Given the description of an element on the screen output the (x, y) to click on. 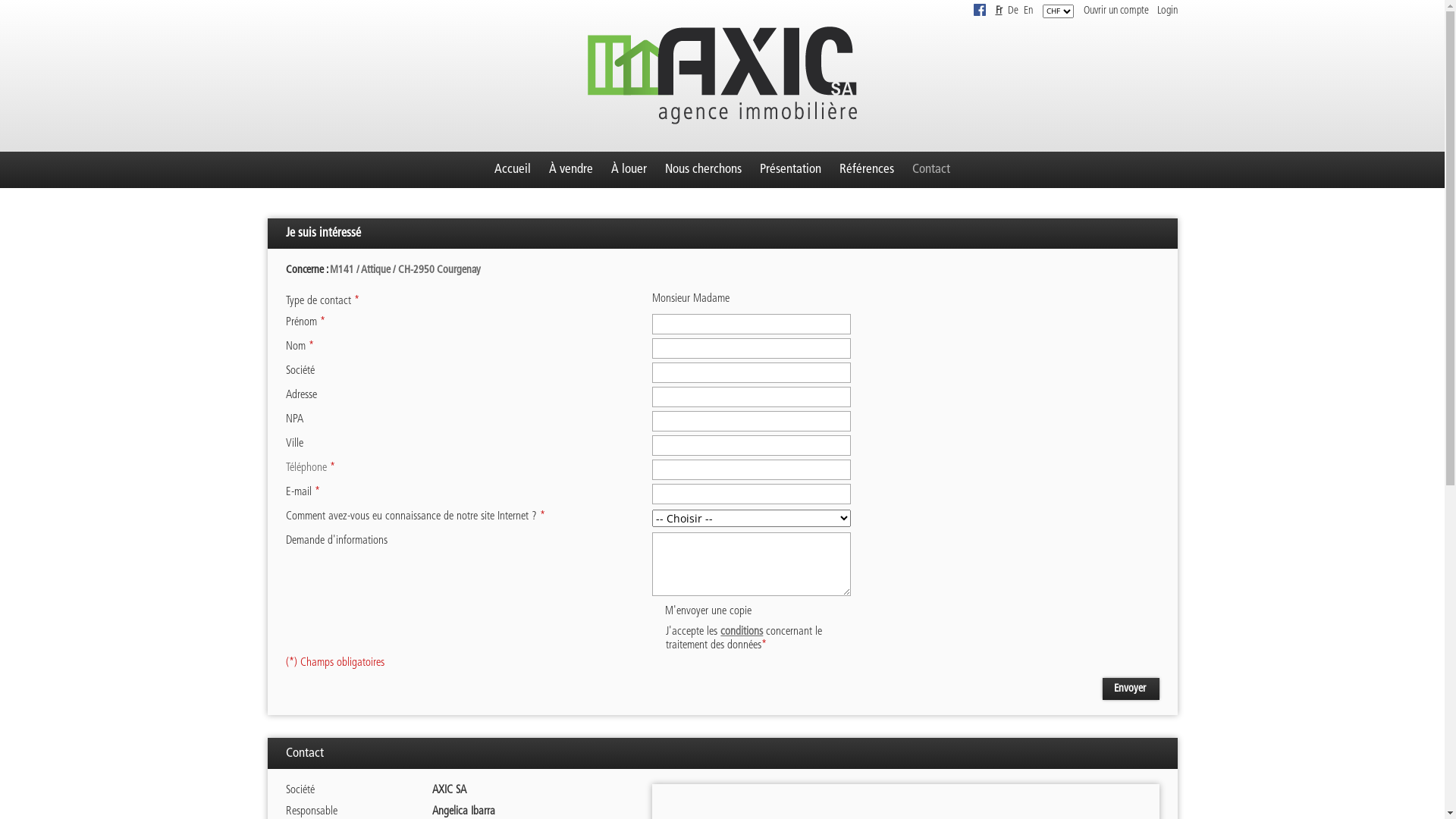
Envoyer  Element type: text (1130, 688)
NPA Element type: hover (751, 421)
M141 / Attique / CH-2950 Courgenay Element type: text (404, 270)
Ville Element type: hover (751, 445)
Nom Element type: hover (751, 348)
Rejoignez-nous sur Facebook Element type: hover (979, 9)
Nous cherchons Element type: text (702, 169)
E-mail Element type: hover (751, 493)
Ouvrir un compte Element type: text (1115, 11)
Contact Element type: text (931, 169)
De Element type: text (1012, 11)
Demande d'informations Element type: hover (751, 564)
En Element type: text (1027, 11)
Fr Element type: text (997, 11)
Adresse Element type: hover (751, 396)
Login Element type: text (1167, 11)
conditions Element type: text (741, 631)
Accueil Element type: text (512, 169)
